Given the description of an element on the screen output the (x, y) to click on. 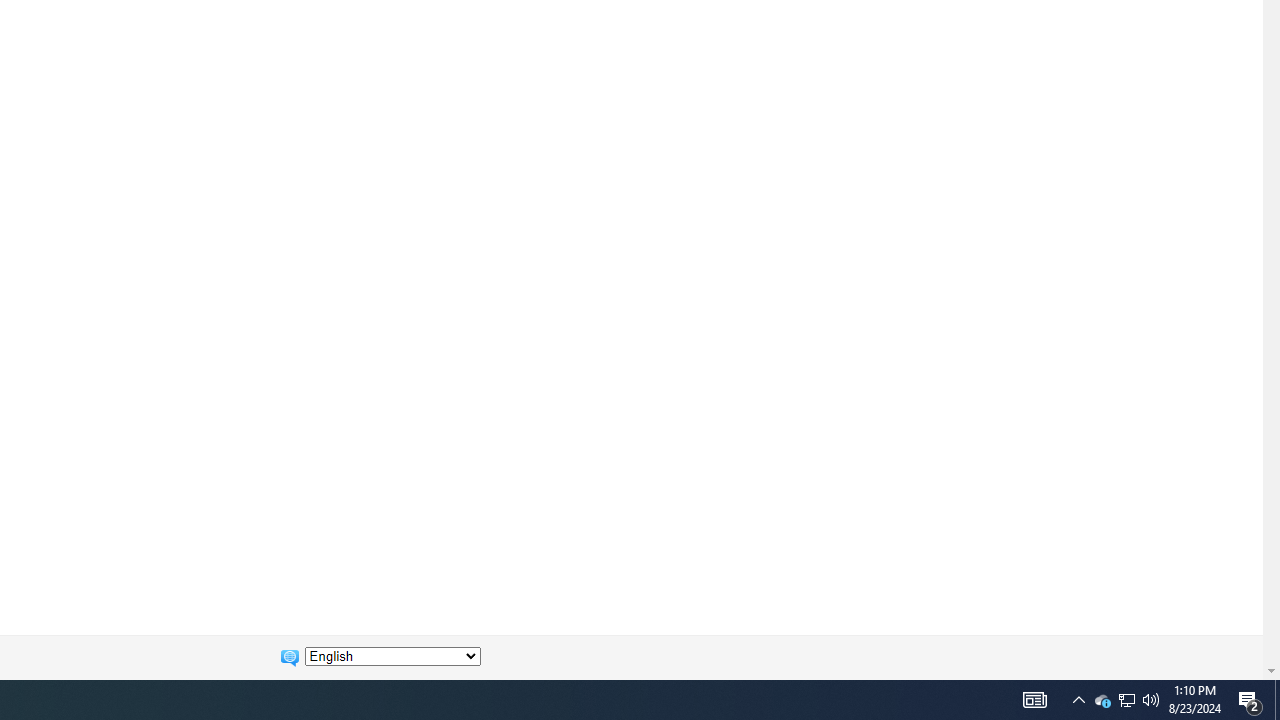
Change language: (392, 656)
